Given the description of an element on the screen output the (x, y) to click on. 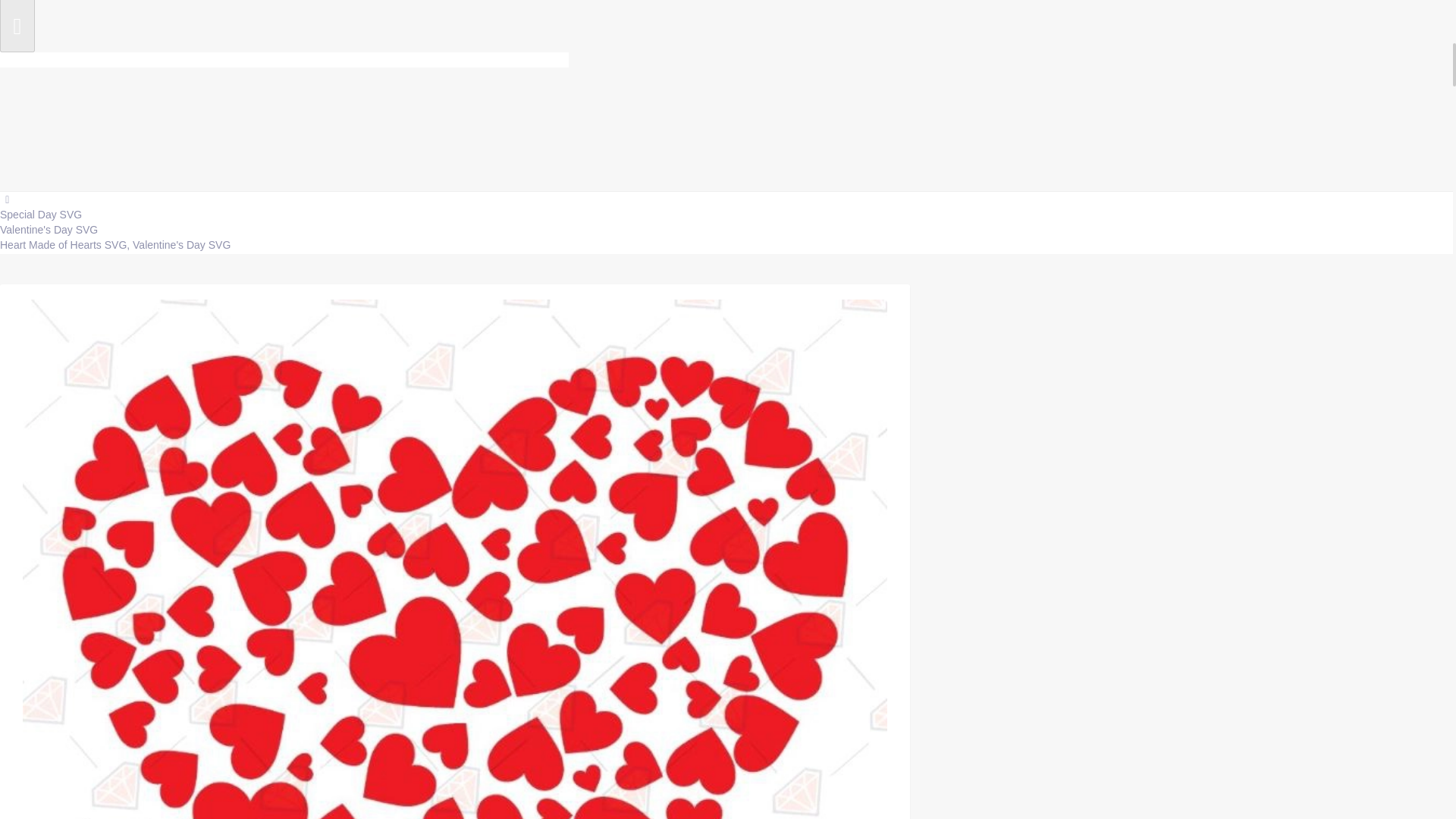
Faq (1252, 115)
Mom SVG (171, 458)
Categories (56, 305)
Wishlist (1307, 117)
Account (1392, 115)
0 (1307, 117)
T-shirt SVG (171, 428)
Blog (171, 398)
